Given the description of an element on the screen output the (x, y) to click on. 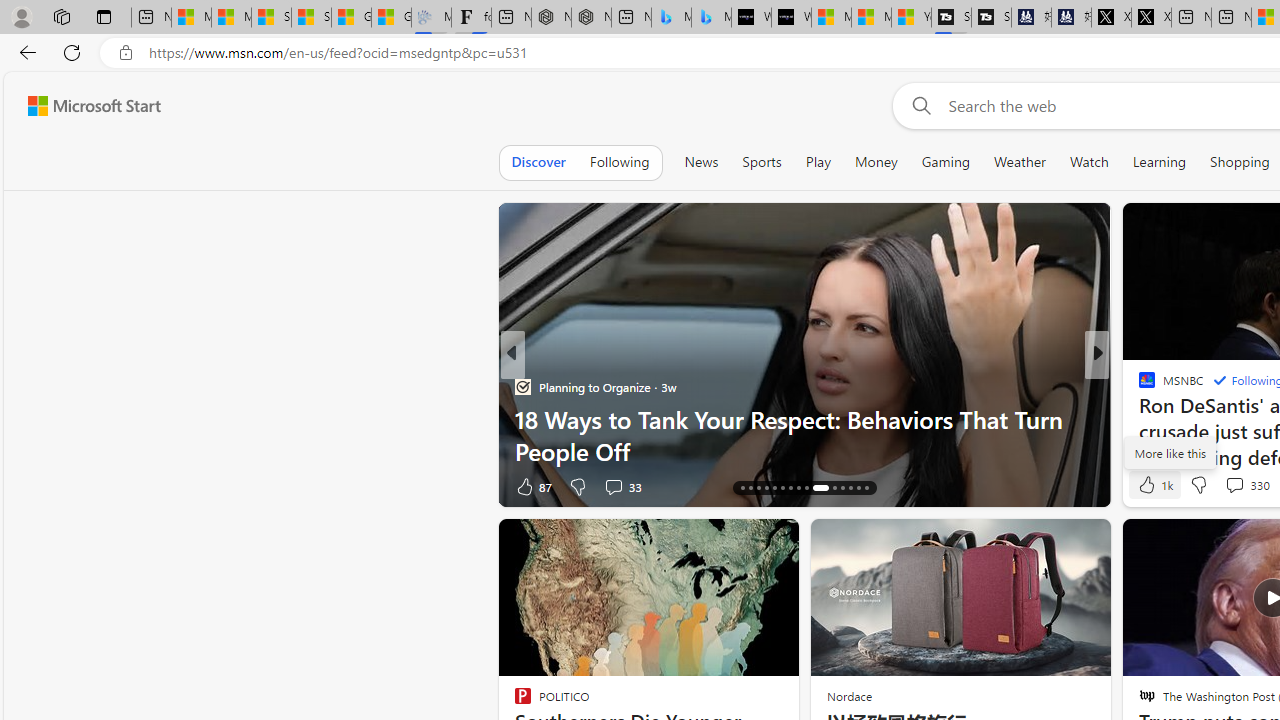
AutomationID: tab-18 (757, 487)
AutomationID: tab-16 (742, 487)
1k Like (1154, 484)
AutomationID: tab-30 (865, 487)
AutomationID: tab-27 (842, 487)
AutomationID: tab-24 (806, 487)
Shopping (1240, 161)
87 Like (532, 486)
